Given the description of an element on the screen output the (x, y) to click on. 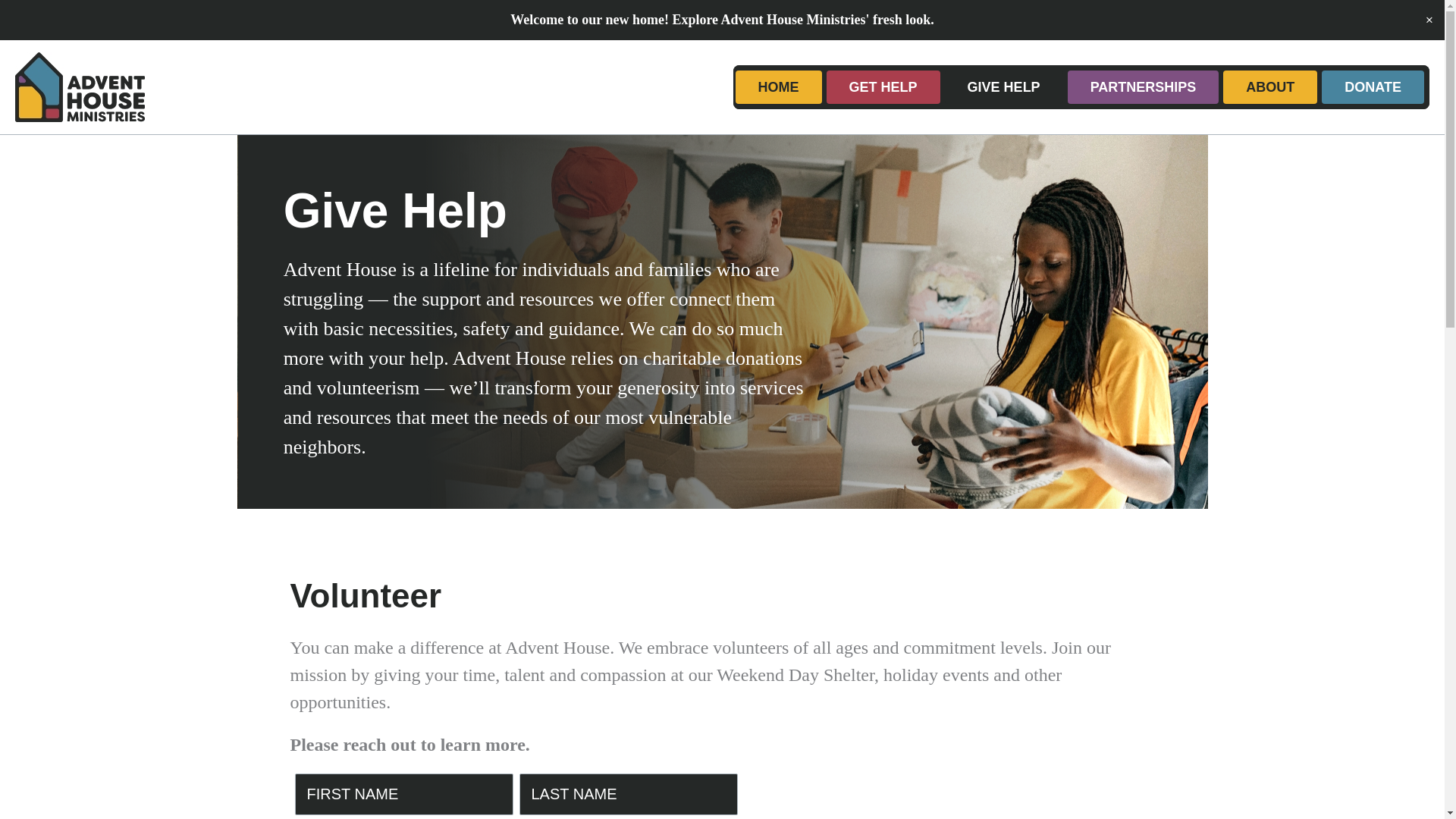
HOME (778, 87)
GIVE HELP (1003, 87)
DONATE (1372, 87)
ABOUT (1269, 87)
PARTNERSHIPS (1143, 87)
GET HELP (883, 87)
